Given the description of an element on the screen output the (x, y) to click on. 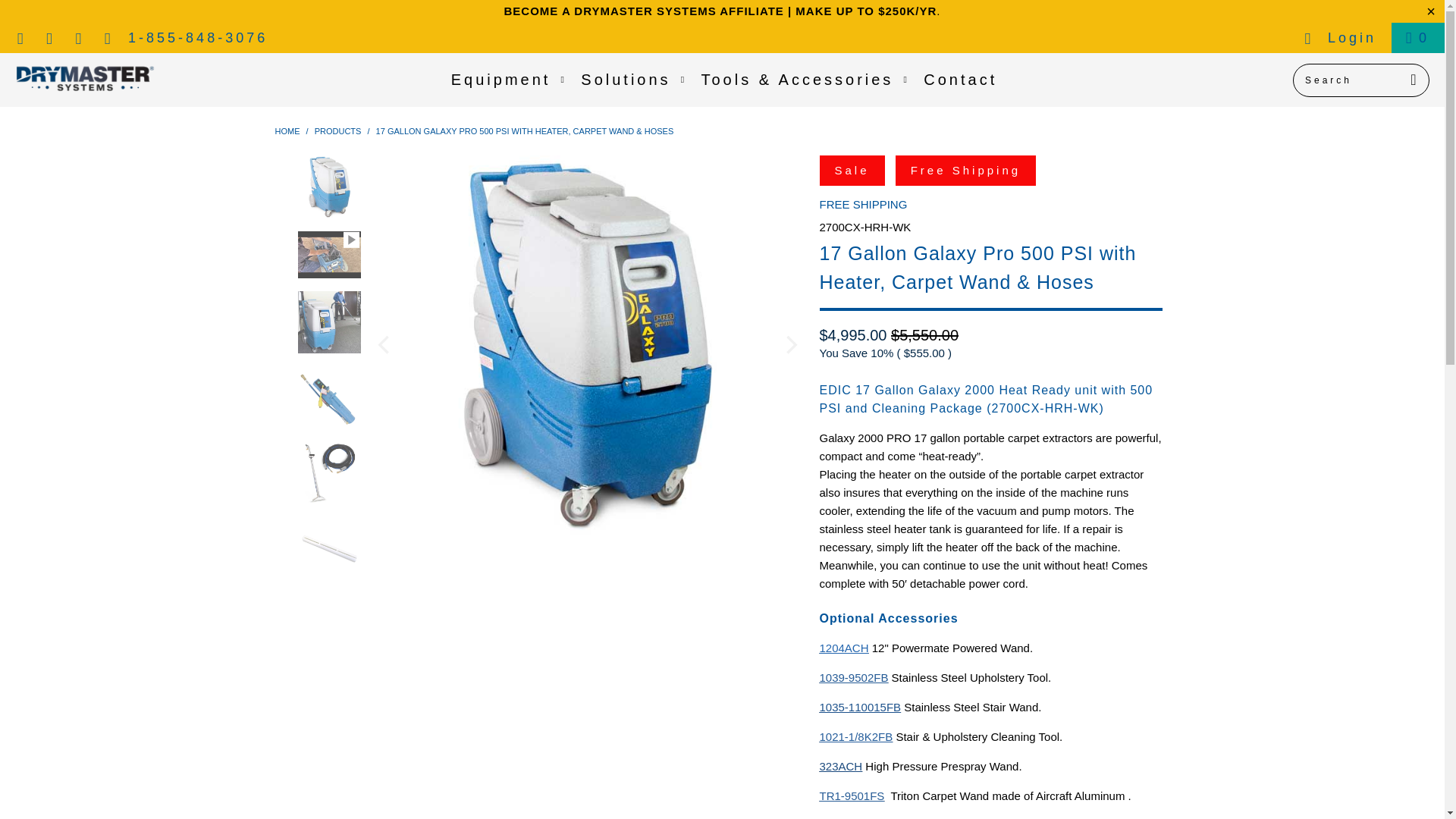
DryMaster Systems on Facebook (20, 37)
Email DryMaster Systems (107, 37)
My Account  (1339, 37)
FREE SHIPPING (862, 204)
DryMaster Systems (84, 79)
Become a DryMaster Affiliate Today (719, 10)
Products (337, 130)
DryMaster Systems on YouTube (49, 37)
DryMaster Systems on Instagram (78, 37)
DryMaster Systems (287, 130)
